Given the description of an element on the screen output the (x, y) to click on. 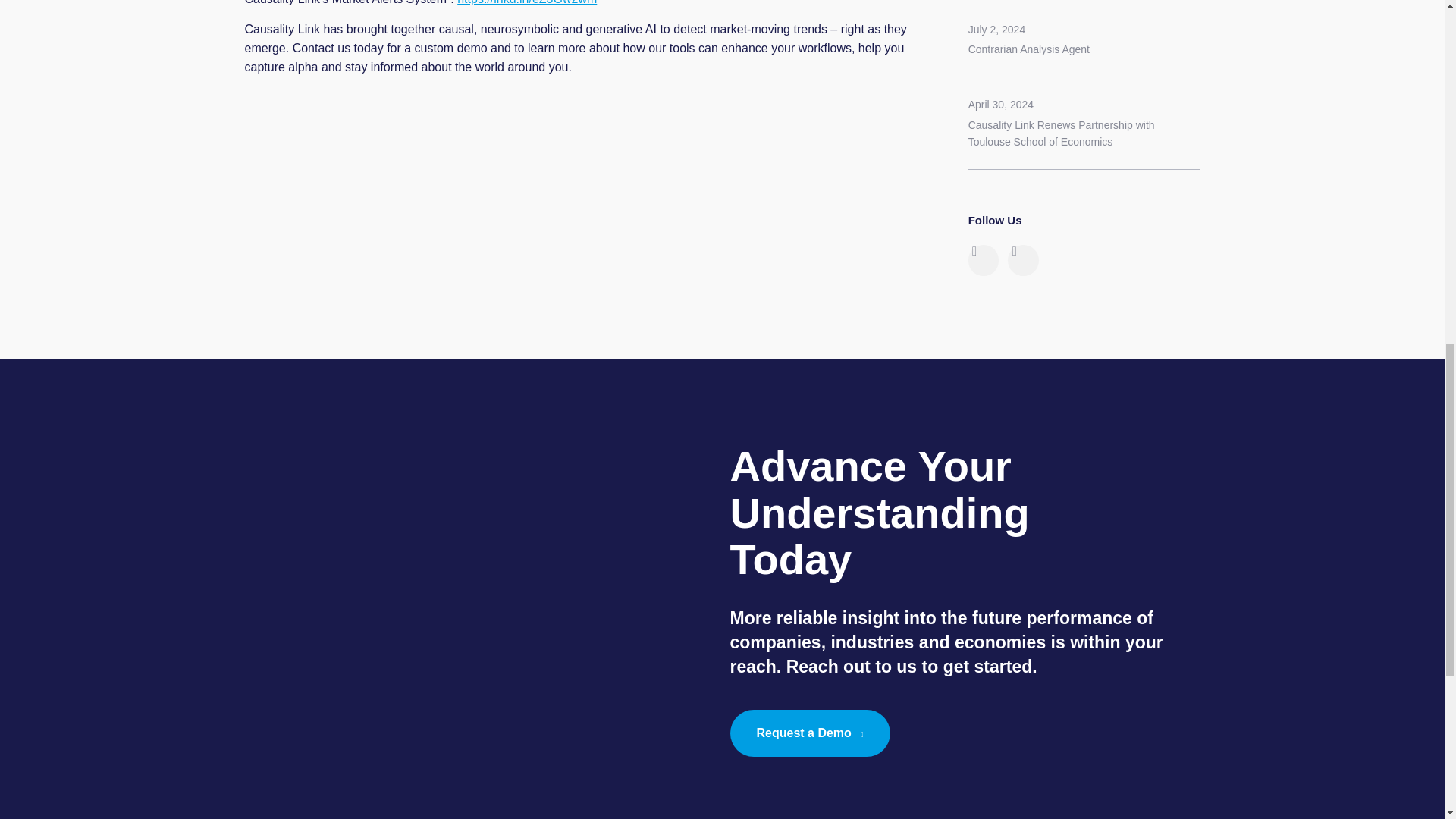
Request a Demo (809, 733)
Contrarian Analysis Agent (1028, 49)
